Given the description of an element on the screen output the (x, y) to click on. 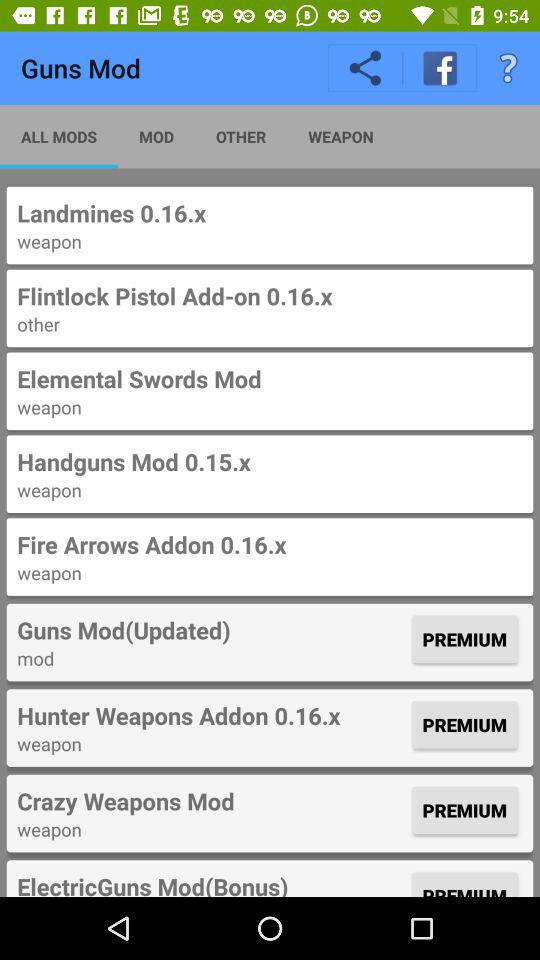
click item below the mod item (211, 715)
